Given the description of an element on the screen output the (x, y) to click on. 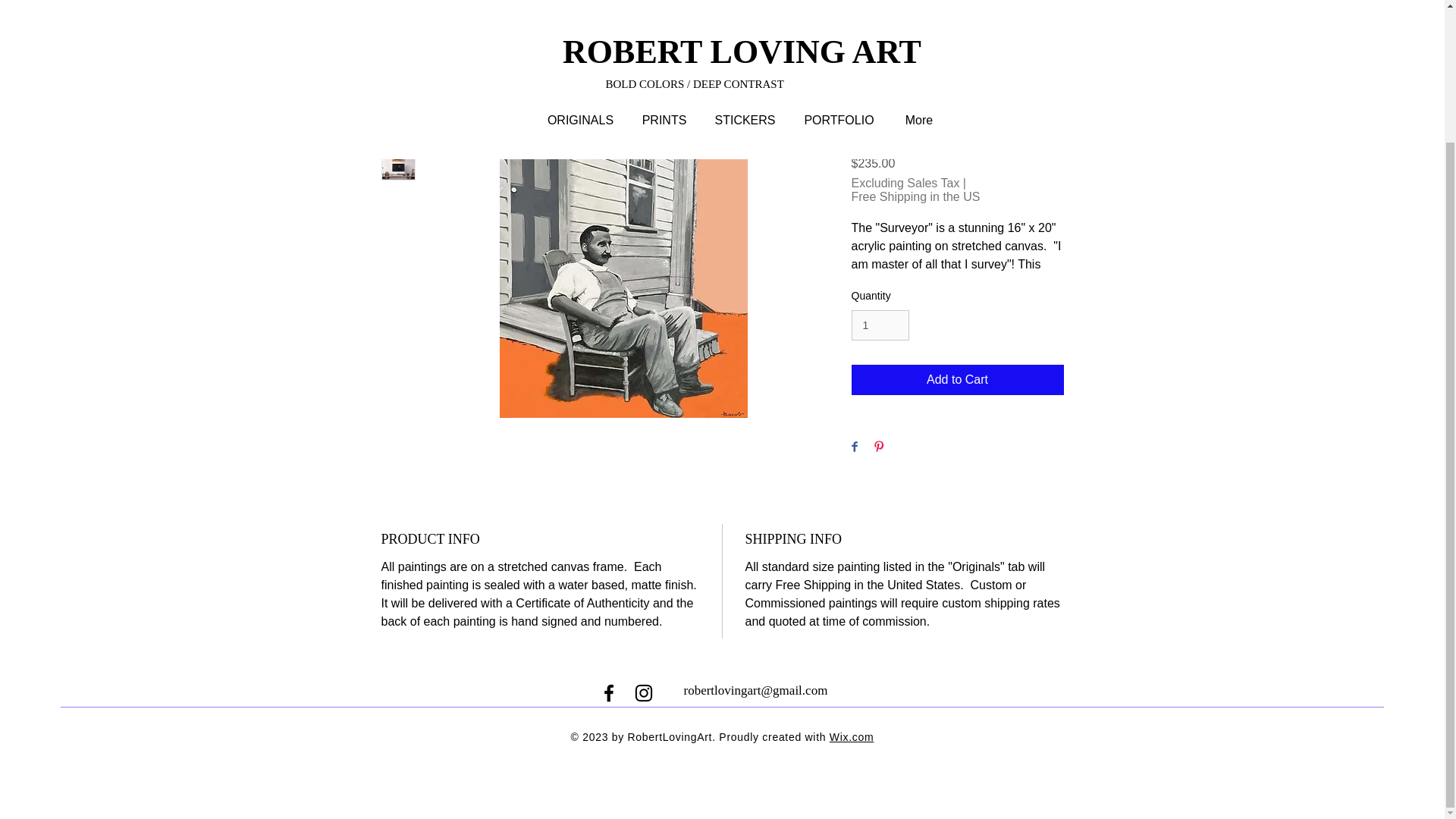
Wix.com (852, 736)
1 (879, 325)
Add to Cart (956, 379)
Free Shipping in the US (914, 196)
